Given the description of an element on the screen output the (x, y) to click on. 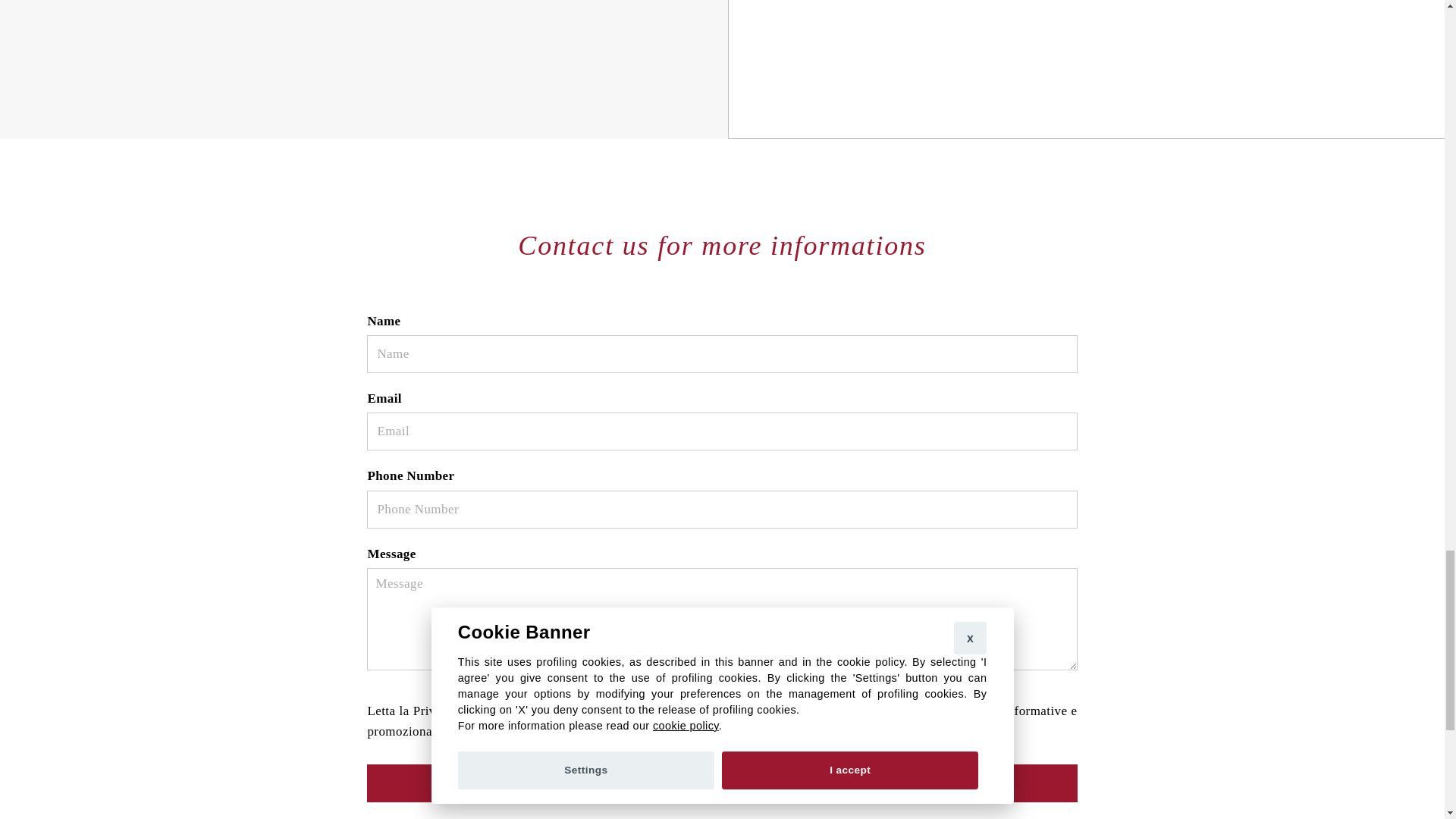
Send (721, 783)
